Given the description of an element on the screen output the (x, y) to click on. 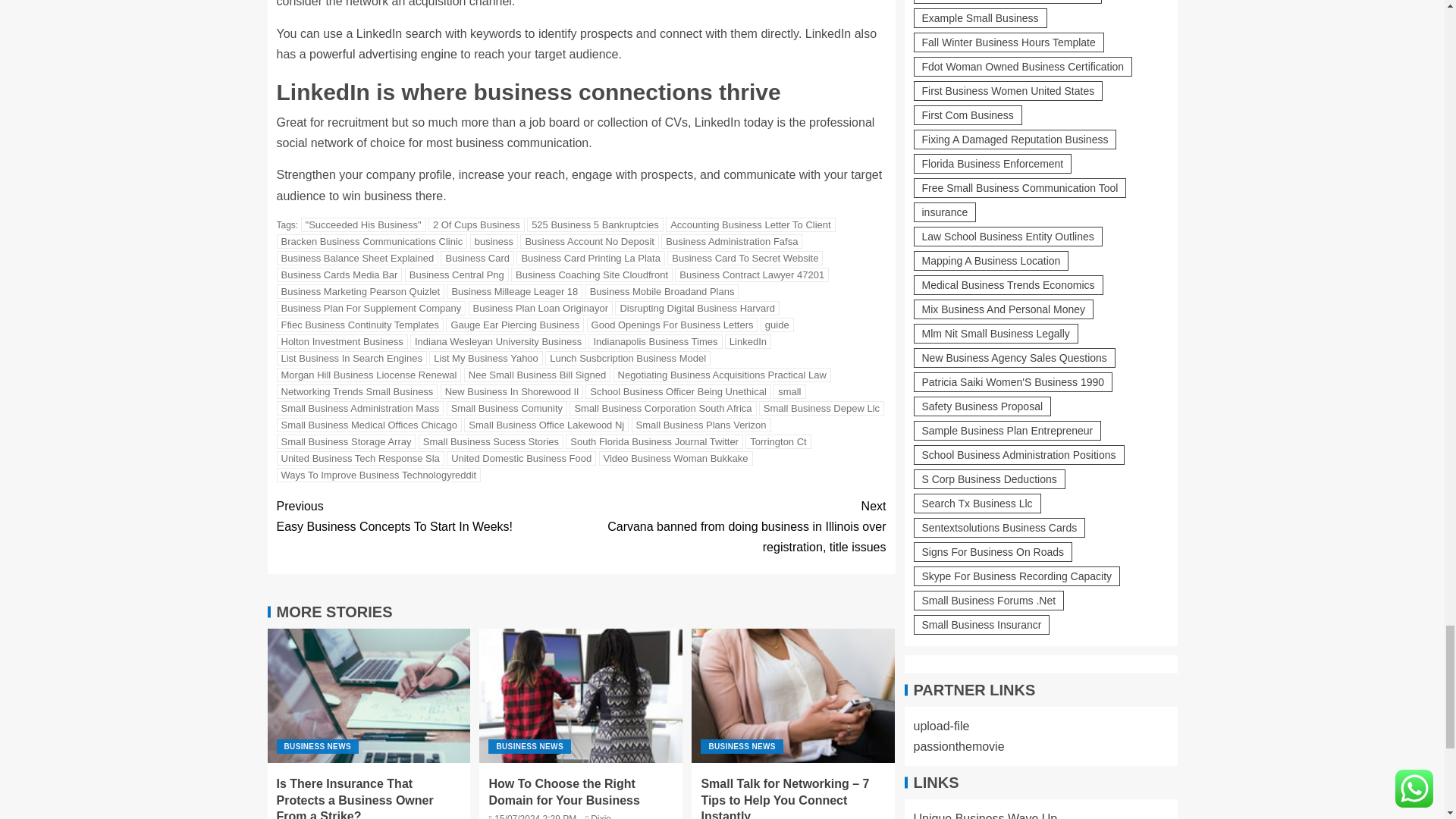
How To Choose the Right Domain for Your Business (580, 695)
